Given the description of an element on the screen output the (x, y) to click on. 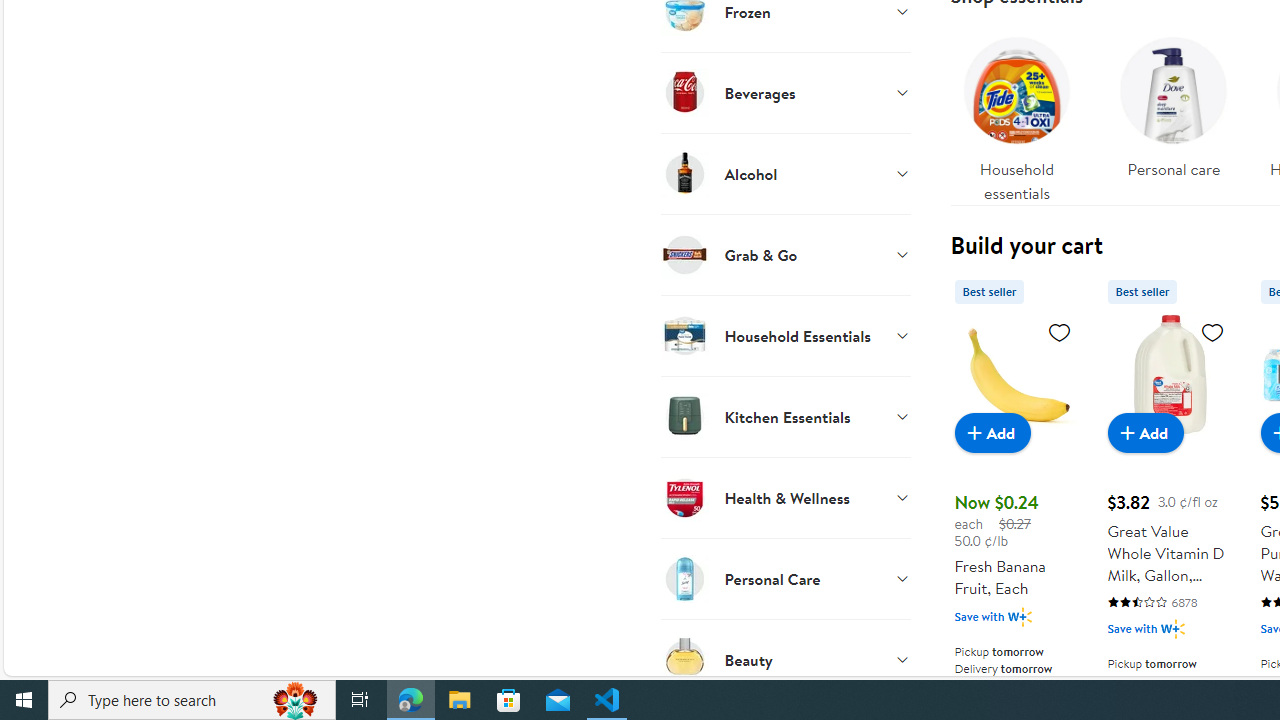
Alcohol (785, 173)
Kitchen Essentials (785, 416)
Beverages (785, 92)
Beauty (785, 659)
Household essentials (1016, 114)
Health & Wellness (785, 497)
Fresh Banana Fruit, Each (1016, 374)
Personal care (1174, 101)
Personal care (1173, 114)
